Given the description of an element on the screen output the (x, y) to click on. 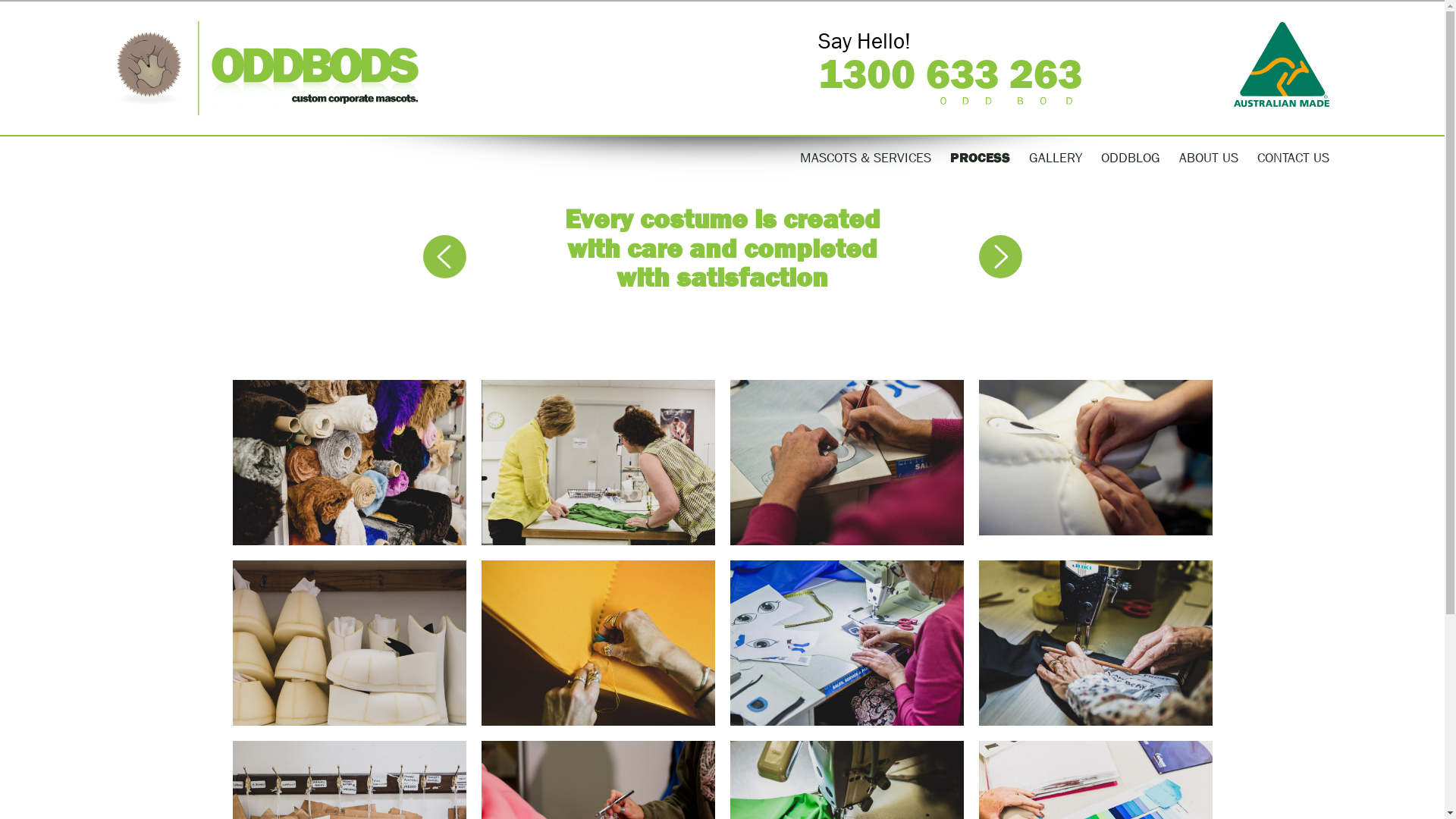
CONTACT US Element type: text (1293, 158)
1300 633 263 Element type: text (949, 74)
PROCESS Element type: text (979, 158)
ABOUT US Element type: text (1207, 158)
MASCOTS & SERVICES Element type: text (864, 158)
ODDBLOG Element type: text (1130, 158)
GALLERY Element type: text (1054, 158)
